Given the description of an element on the screen output the (x, y) to click on. 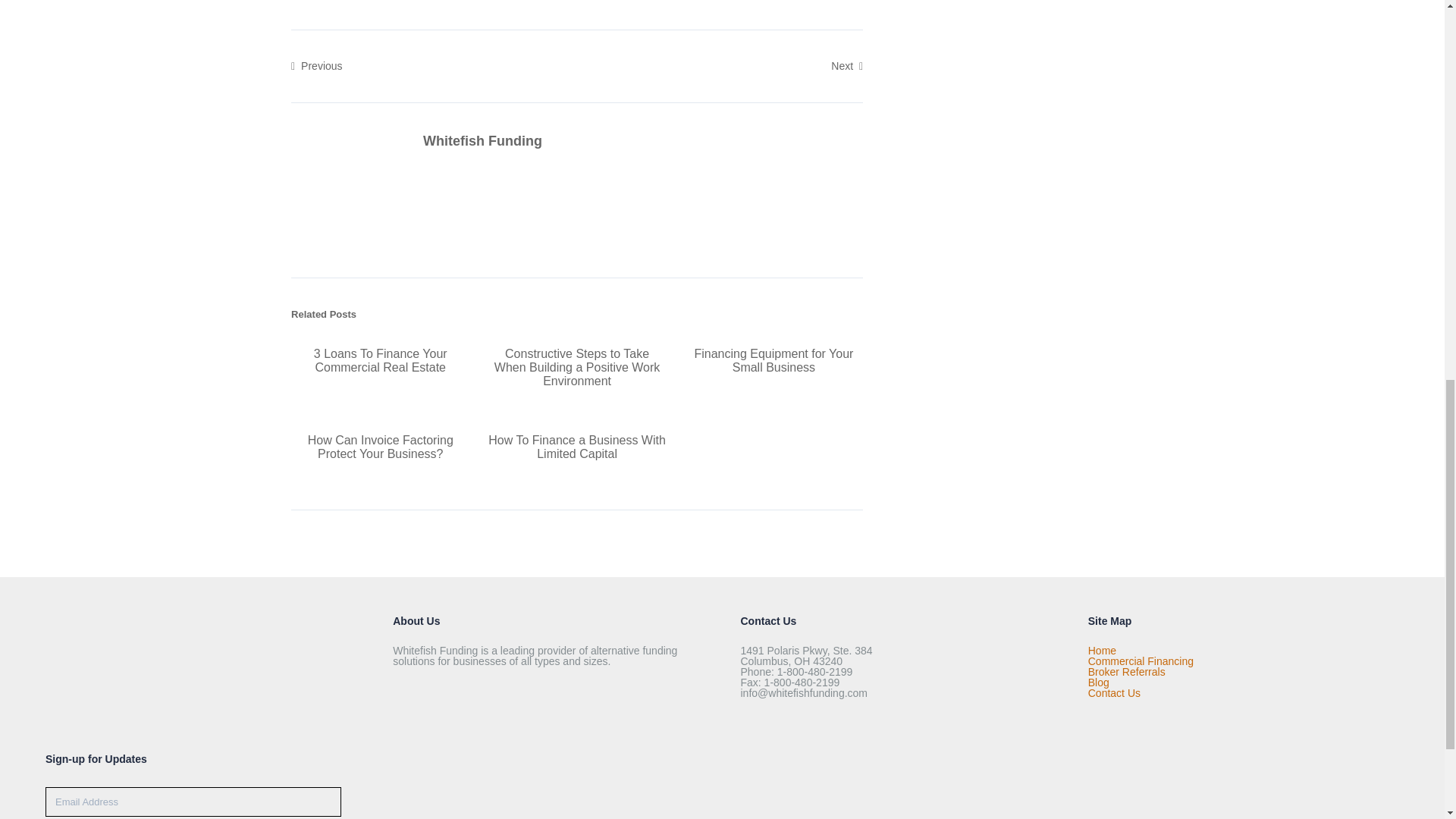
Posts by Whitefish Funding (482, 140)
